Given the description of an element on the screen output the (x, y) to click on. 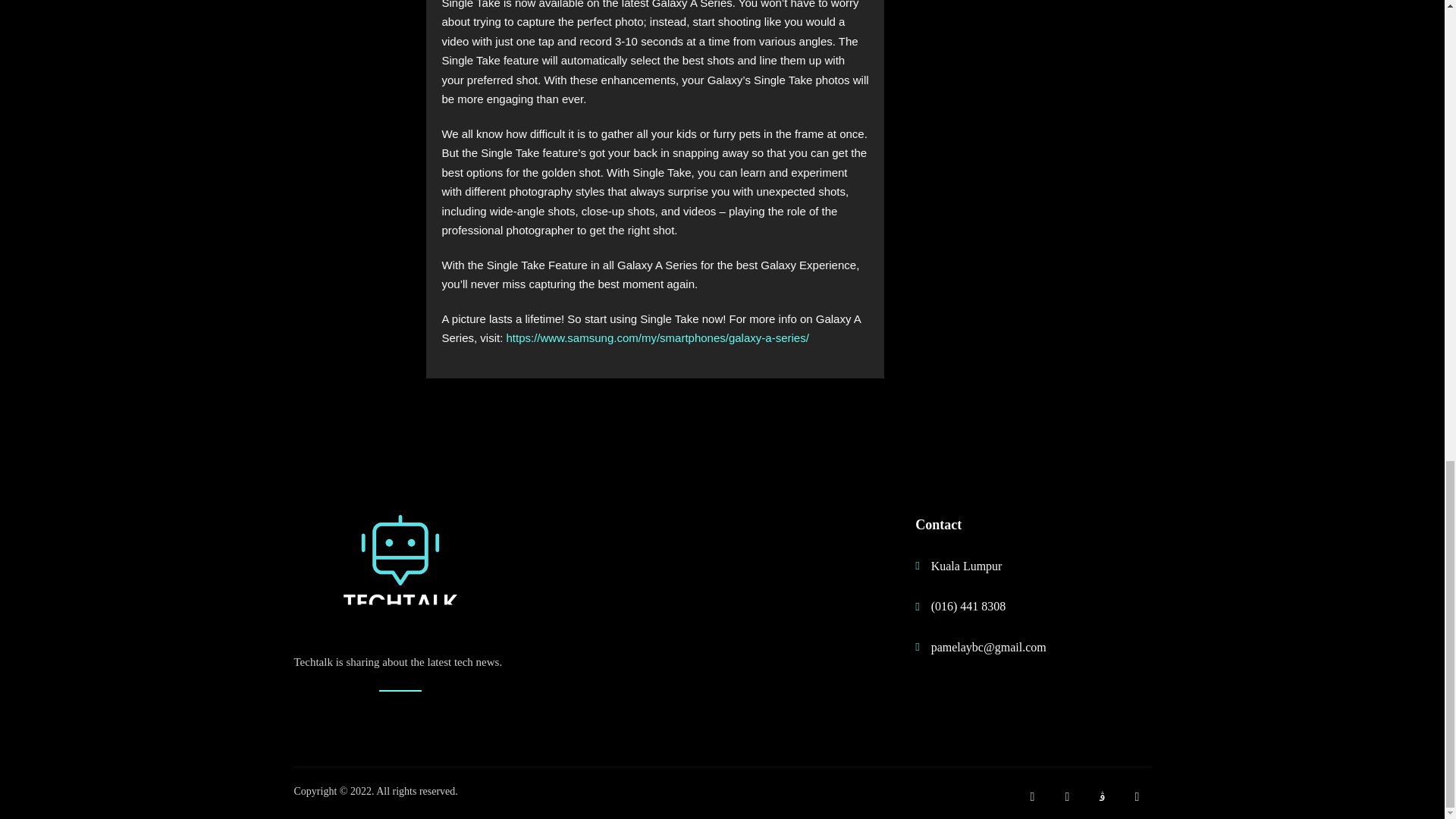
Kuala Lumpur (1017, 566)
